Given the description of an element on the screen output the (x, y) to click on. 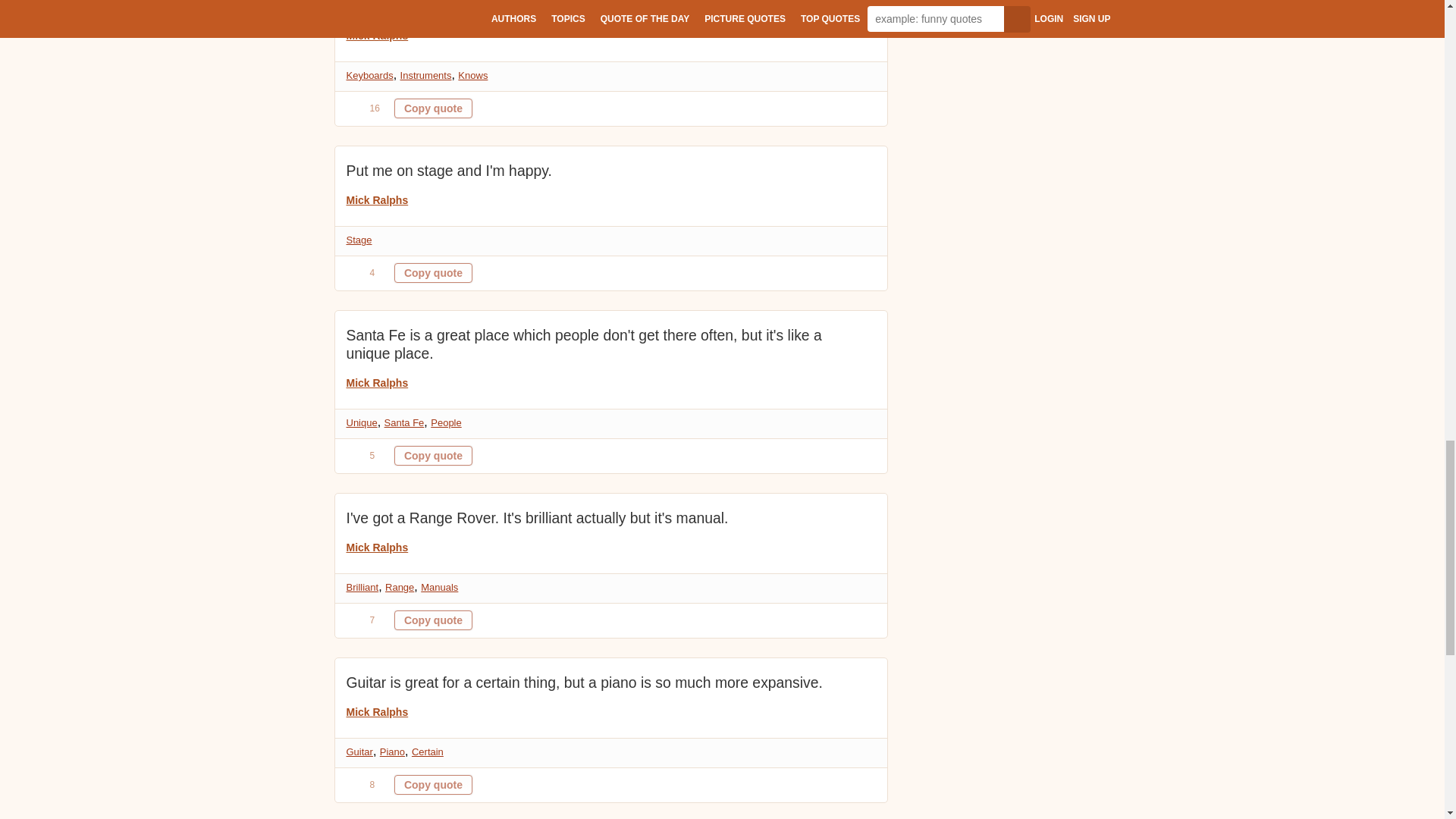
Quote is copied (432, 107)
Quote is copied (432, 455)
Quote is copied (432, 619)
Quote is copied (432, 272)
Quote is copied (432, 784)
